Given the description of an element on the screen output the (x, y) to click on. 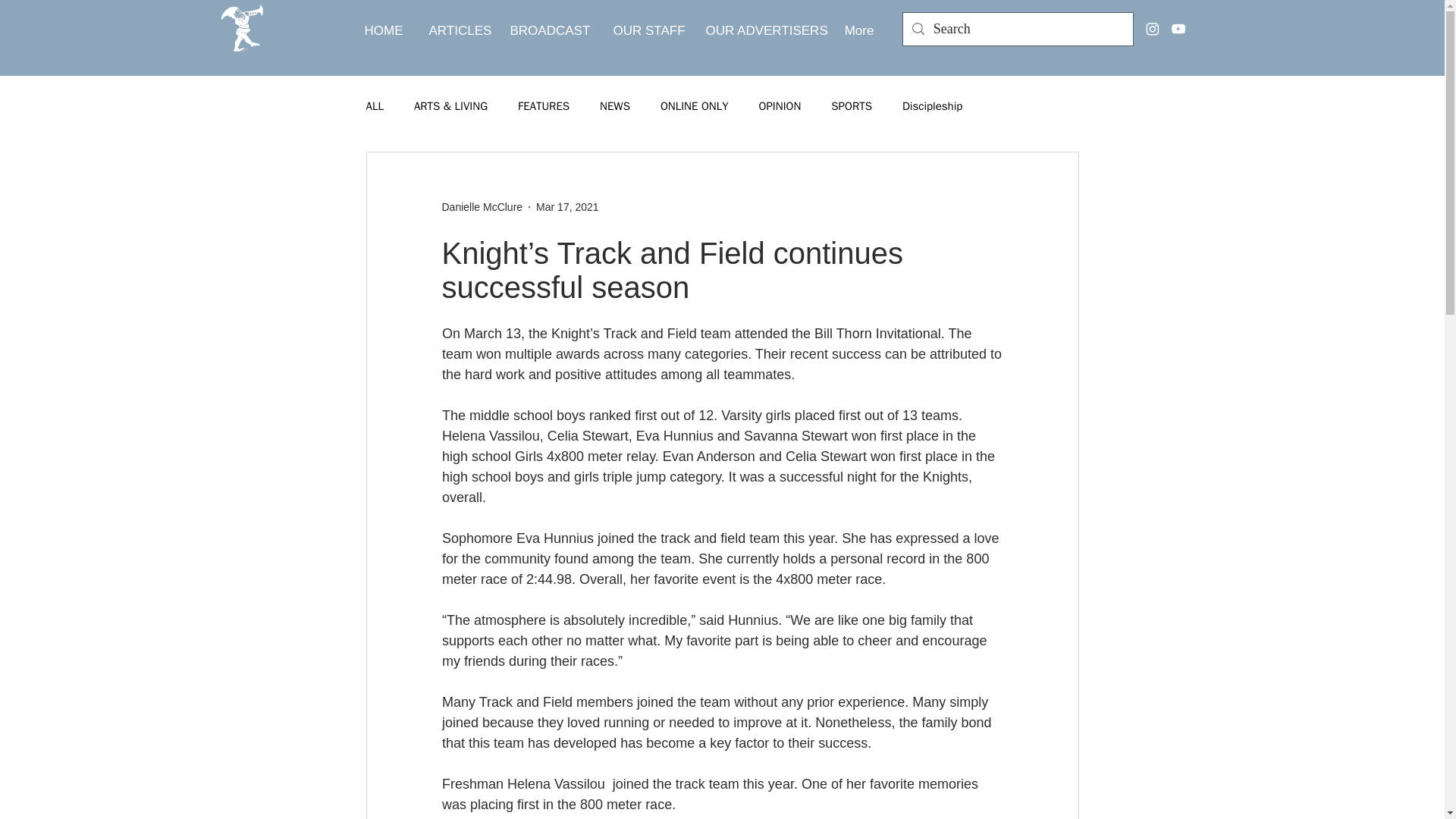
ARTICLES (456, 30)
Mar 17, 2021 (566, 205)
ONLINE ONLY (695, 105)
Danielle McClure (481, 206)
HOME (383, 30)
Danielle McClure (481, 206)
OPINION (780, 105)
BROADCAST (550, 30)
Discipleship (932, 105)
OUR ADVERTISERS (761, 30)
SPORTS (851, 105)
OUR STAFF (648, 30)
ALL (373, 105)
FEATURES (543, 105)
NEWS (614, 105)
